Given the description of an element on the screen output the (x, y) to click on. 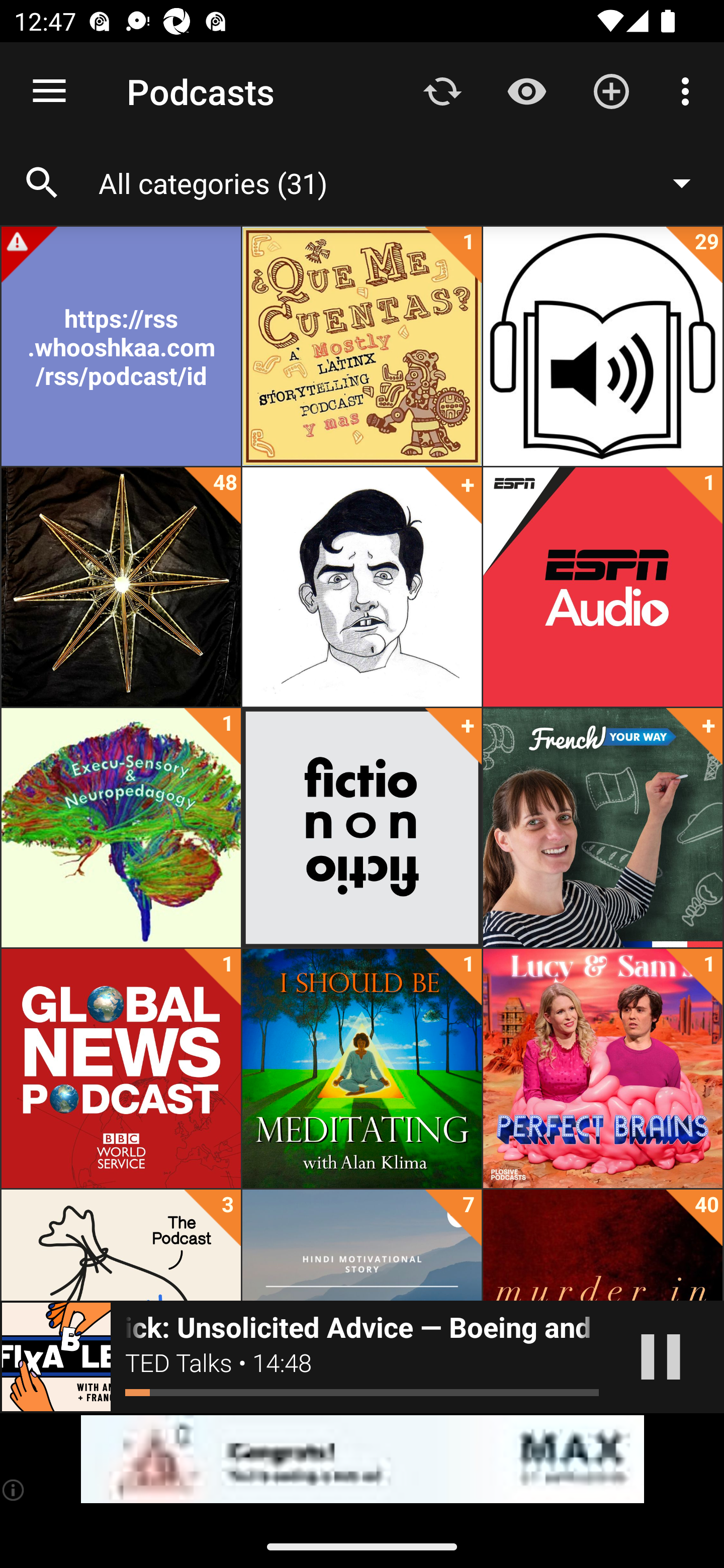
Open navigation sidebar (49, 91)
Update (442, 90)
Show / Hide played content (526, 90)
Add new Podcast (611, 90)
More options (688, 90)
Search (42, 183)
All categories (31) (404, 182)
https://rss.whooshkaa.com/rss/podcast/id/5884 (121, 346)
¿Qué Me Cuentas?: Latinx Storytelling 1 (361, 346)
Audiobooks 29 (602, 346)
Audiobooks 48 (121, 587)
Cooking Issues with Dave Arnold + (361, 587)
ESPN Audio 1 (602, 587)
fiction/non/fiction + (361, 827)
Global News Podcast 1 (121, 1068)
Lucy & Sam's Perfect Brains 1 (602, 1068)
Play / Pause (660, 1356)
app-monetization (362, 1459)
(i) (14, 1489)
